Given the description of an element on the screen output the (x, y) to click on. 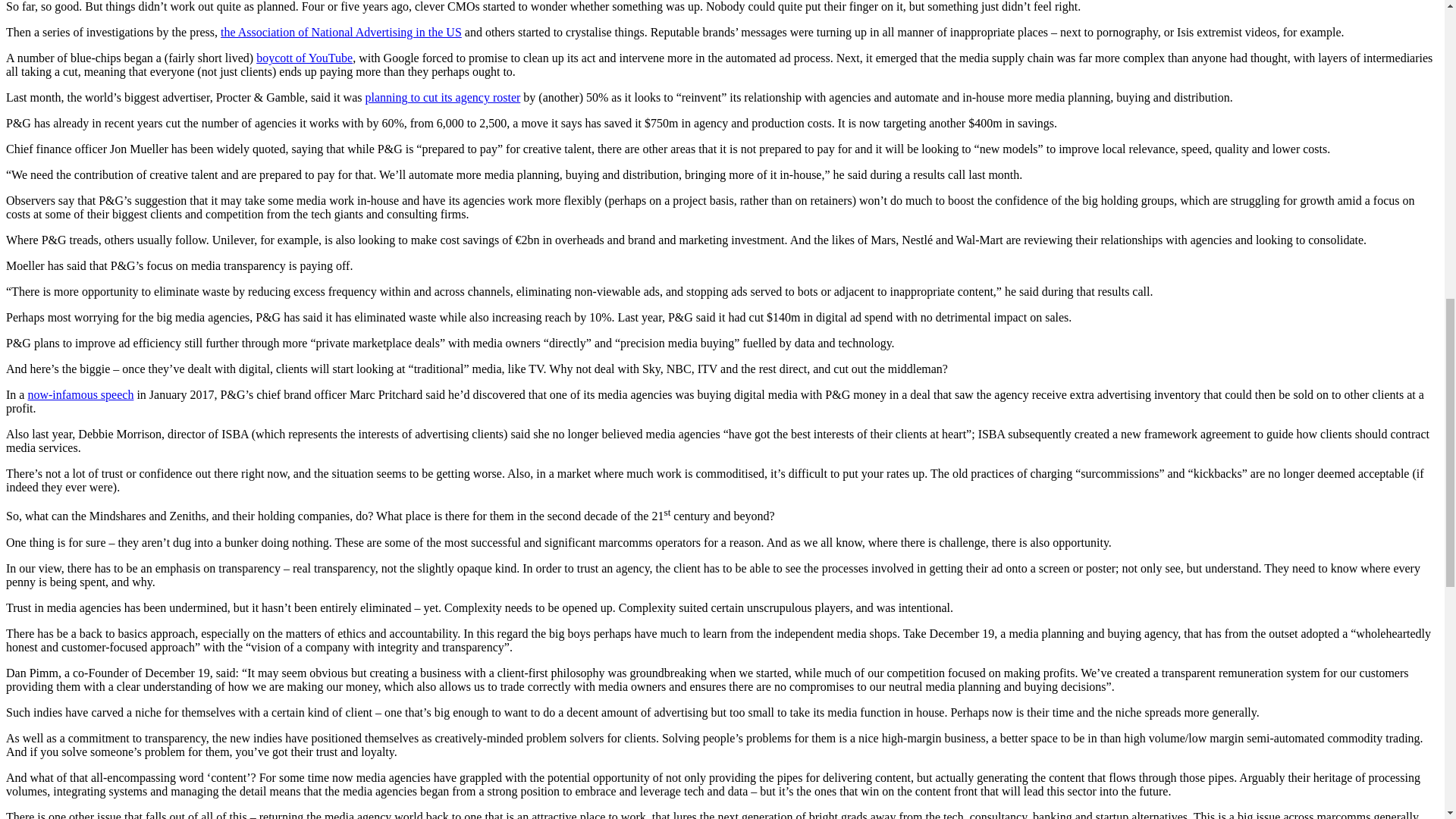
boycott of YouTube (304, 57)
the Association of National Advertising in the US (341, 31)
now-infamous speech (80, 394)
planning to cut its agency roster (442, 97)
